Given the description of an element on the screen output the (x, y) to click on. 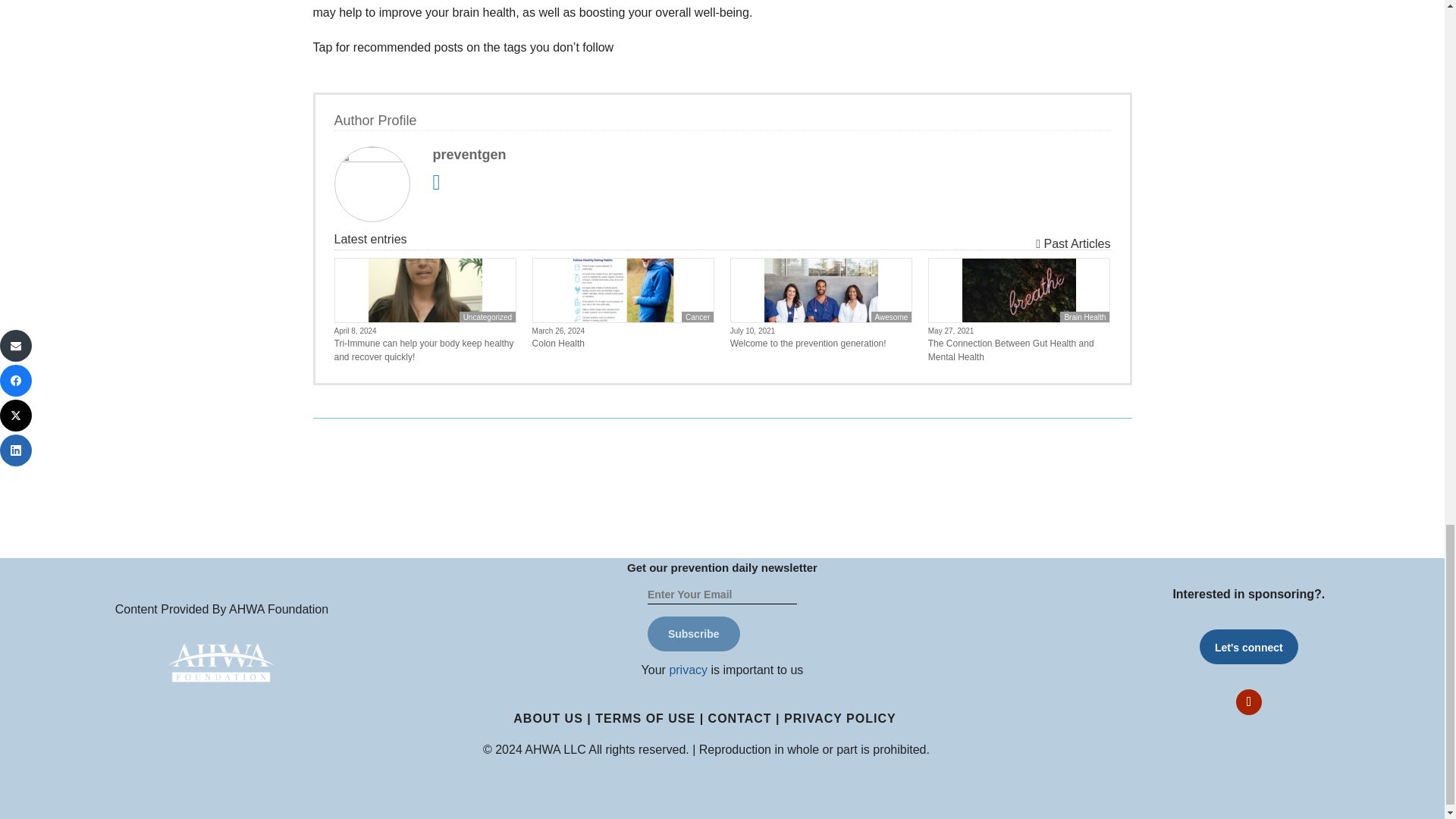
ABOUT US (548, 717)
Follow on Youtube (1249, 701)
Let's connect (1248, 646)
PRIVACY POLICY (840, 717)
Uncategorized (487, 317)
The Connection Between Gut Health and Mental Health (1019, 349)
Brain Health (1084, 317)
welcome-image - Prevention Generation (820, 290)
Cancer (697, 317)
Colon Health (623, 343)
Awesome (891, 317)
Welcome to the prevention generation! (821, 343)
Past Articles (1072, 243)
privacy (687, 669)
Subscribe (693, 633)
